Given the description of an element on the screen output the (x, y) to click on. 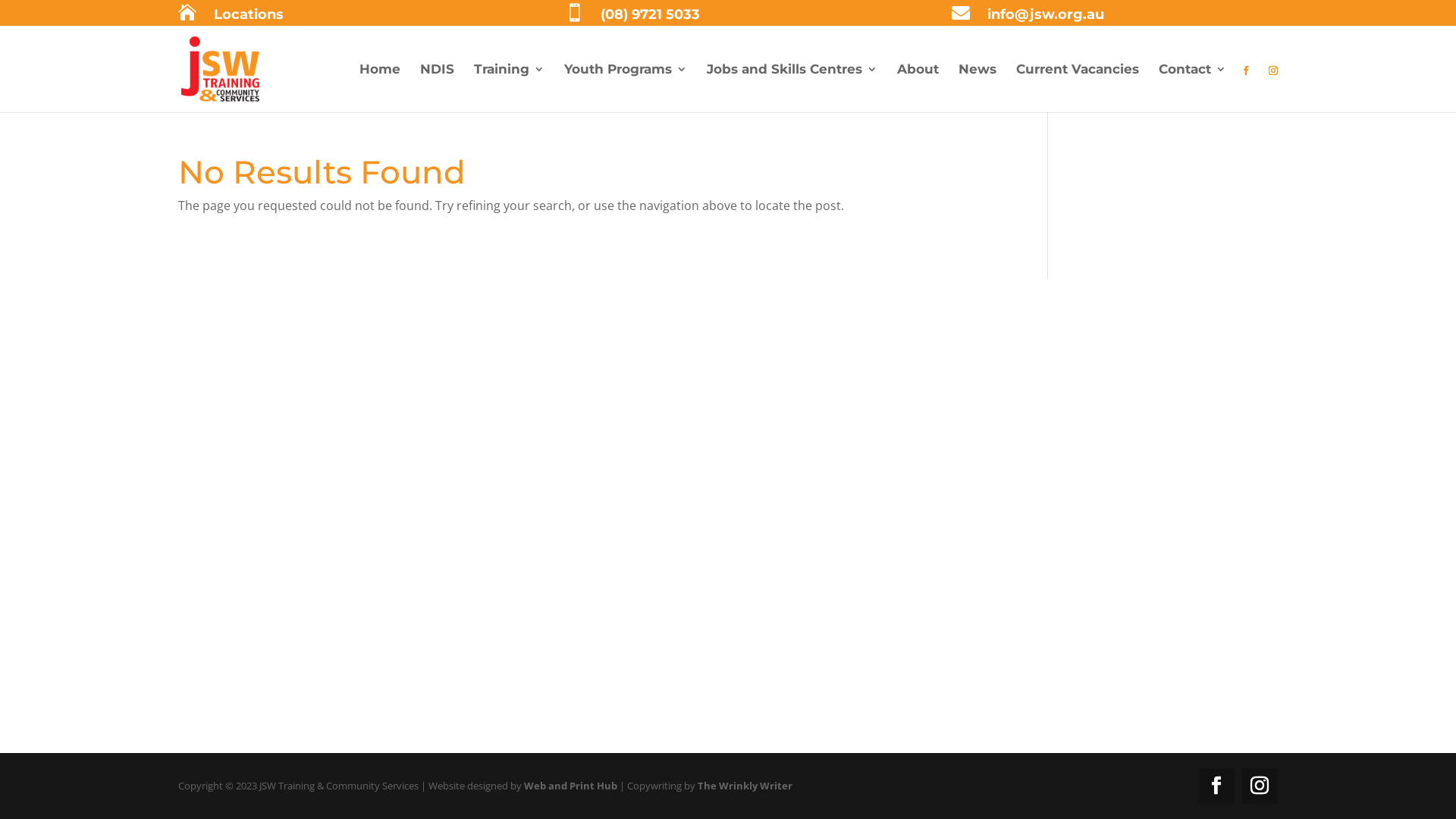
Current Vacancies Element type: text (1077, 87)
Locations Element type: text (248, 14)
Contact Element type: text (1192, 87)
About Element type: text (917, 87)
Jobs and Skills Centres Element type: text (791, 87)
News Element type: text (977, 87)
The Wrinkly Writer Element type: text (744, 785)
info@jsw.org.au Element type: text (1045, 14)
Home Element type: text (379, 87)
Web and Print Hub Element type: text (570, 785)
Youth Programs Element type: text (625, 87)
Training Element type: text (508, 87)
NDIS Element type: text (437, 87)
(08) 9721 5033 Element type: text (649, 14)
